Given the description of an element on the screen output the (x, y) to click on. 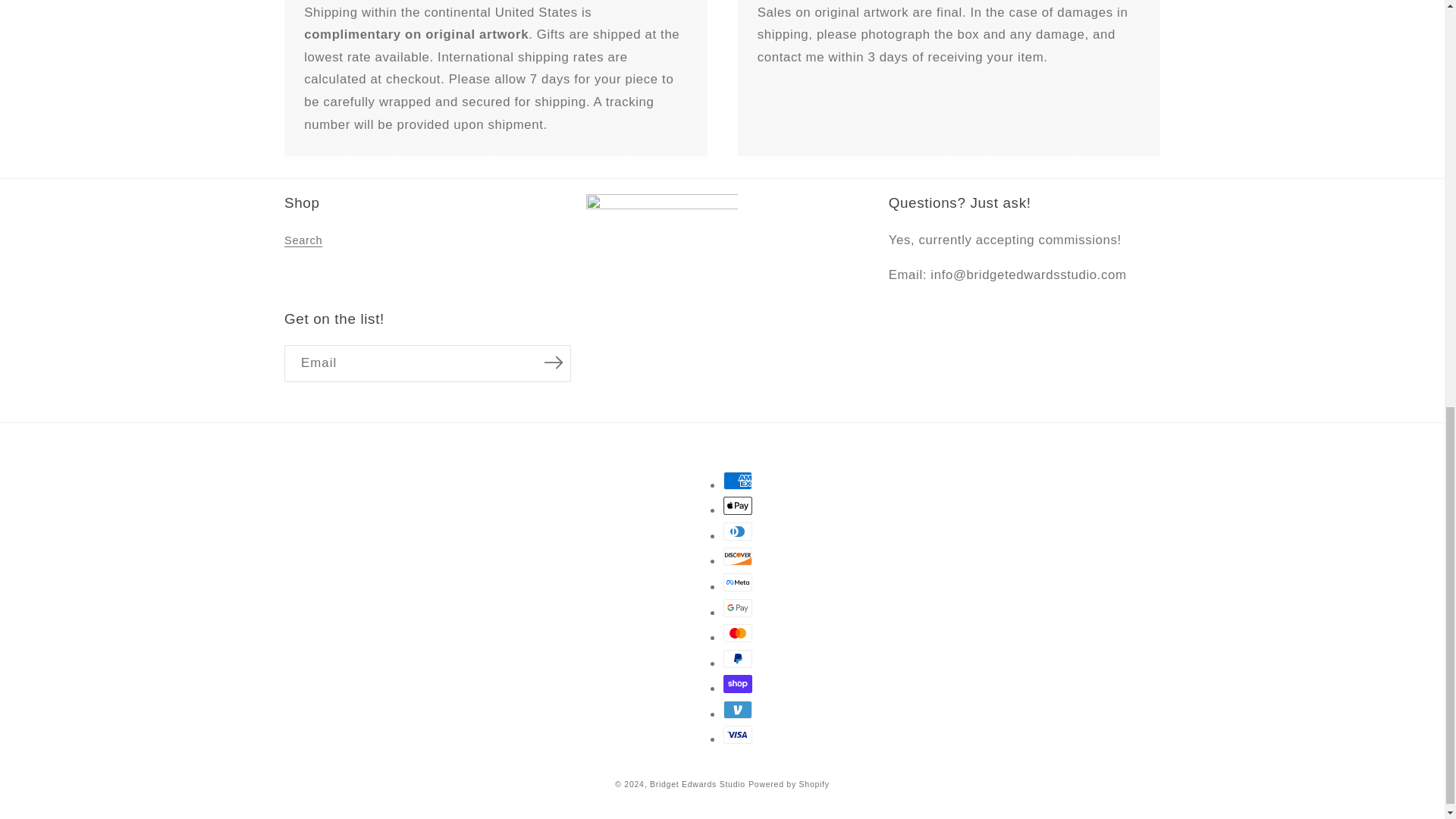
Meta Pay (737, 582)
American Express (737, 480)
Discover (737, 556)
PayPal (737, 659)
Visa (737, 734)
Venmo (737, 710)
Mastercard (737, 633)
Diners Club (737, 531)
Google Pay (737, 607)
Apple Pay (737, 505)
